Given the description of an element on the screen output the (x, y) to click on. 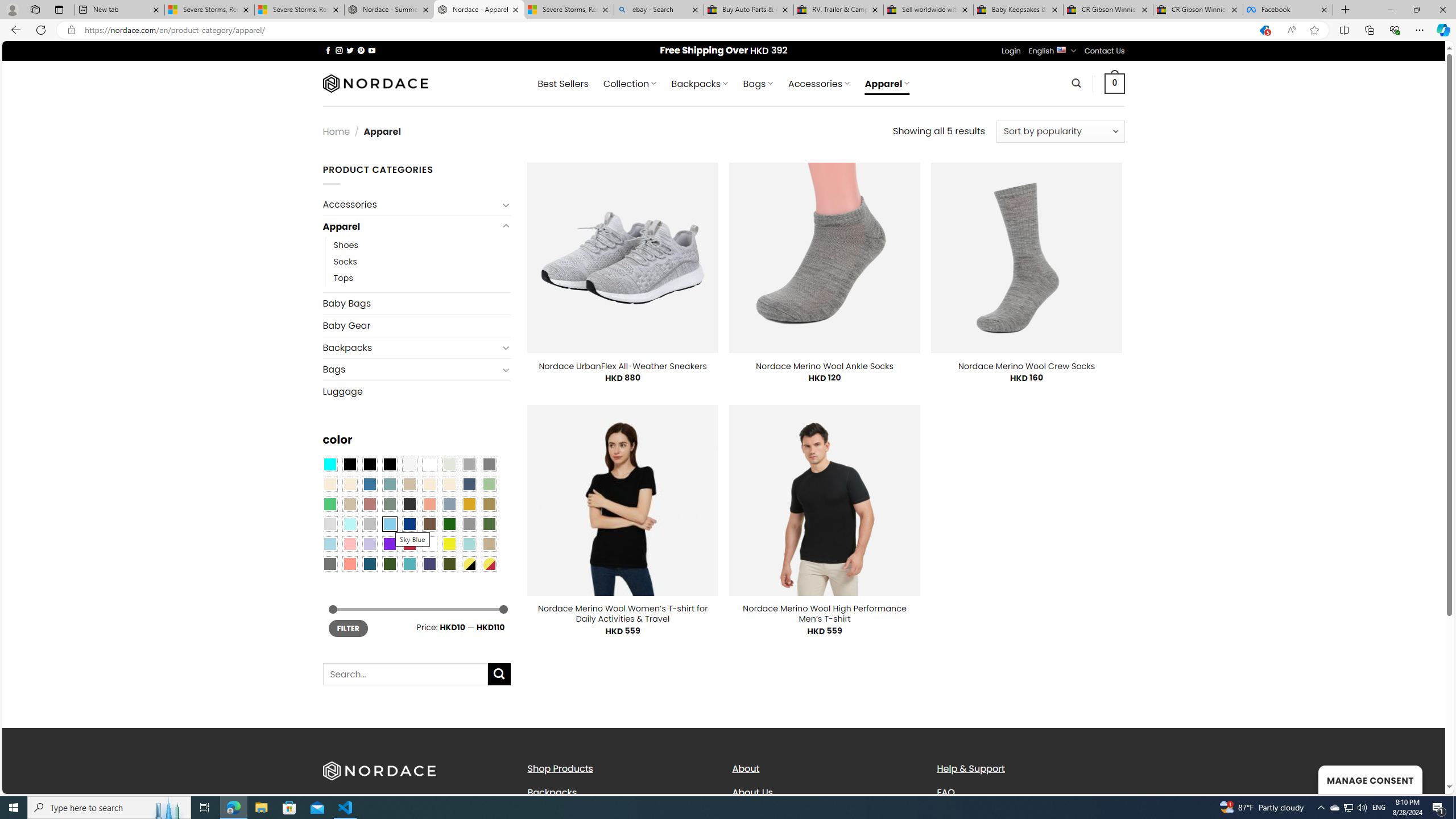
Baby Bags (416, 303)
Pink (349, 543)
Backpacks (620, 792)
Baby Gear (416, 325)
